Given the description of an element on the screen output the (x, y) to click on. 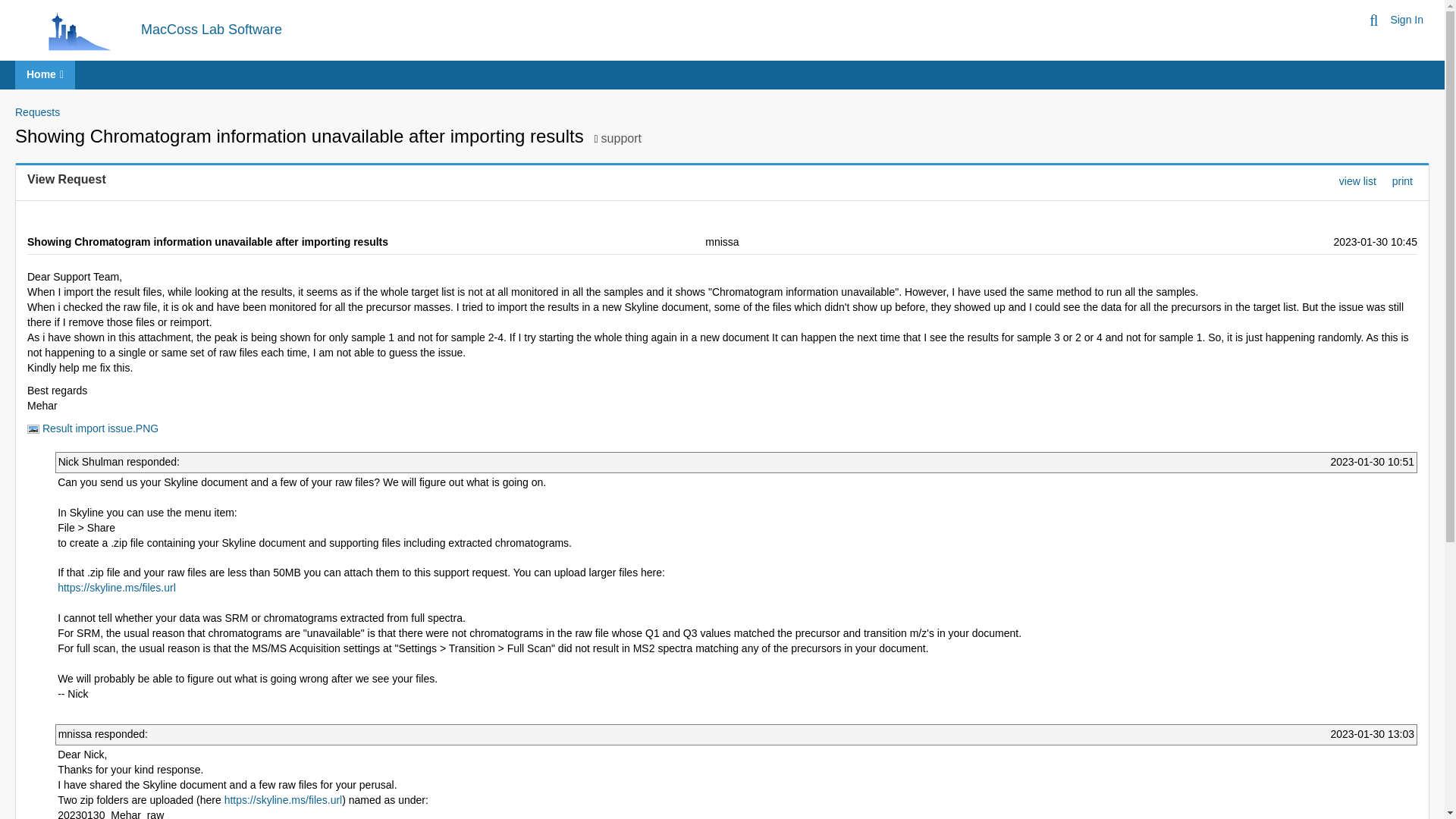
 Result import issue.PNG (92, 428)
support (621, 137)
print (1401, 180)
Home (44, 74)
View Request (66, 178)
View Request (66, 179)
view list (1357, 180)
Requests (36, 111)
MacCoss Lab Software (211, 29)
Sign In (1406, 20)
